Given the description of an element on the screen output the (x, y) to click on. 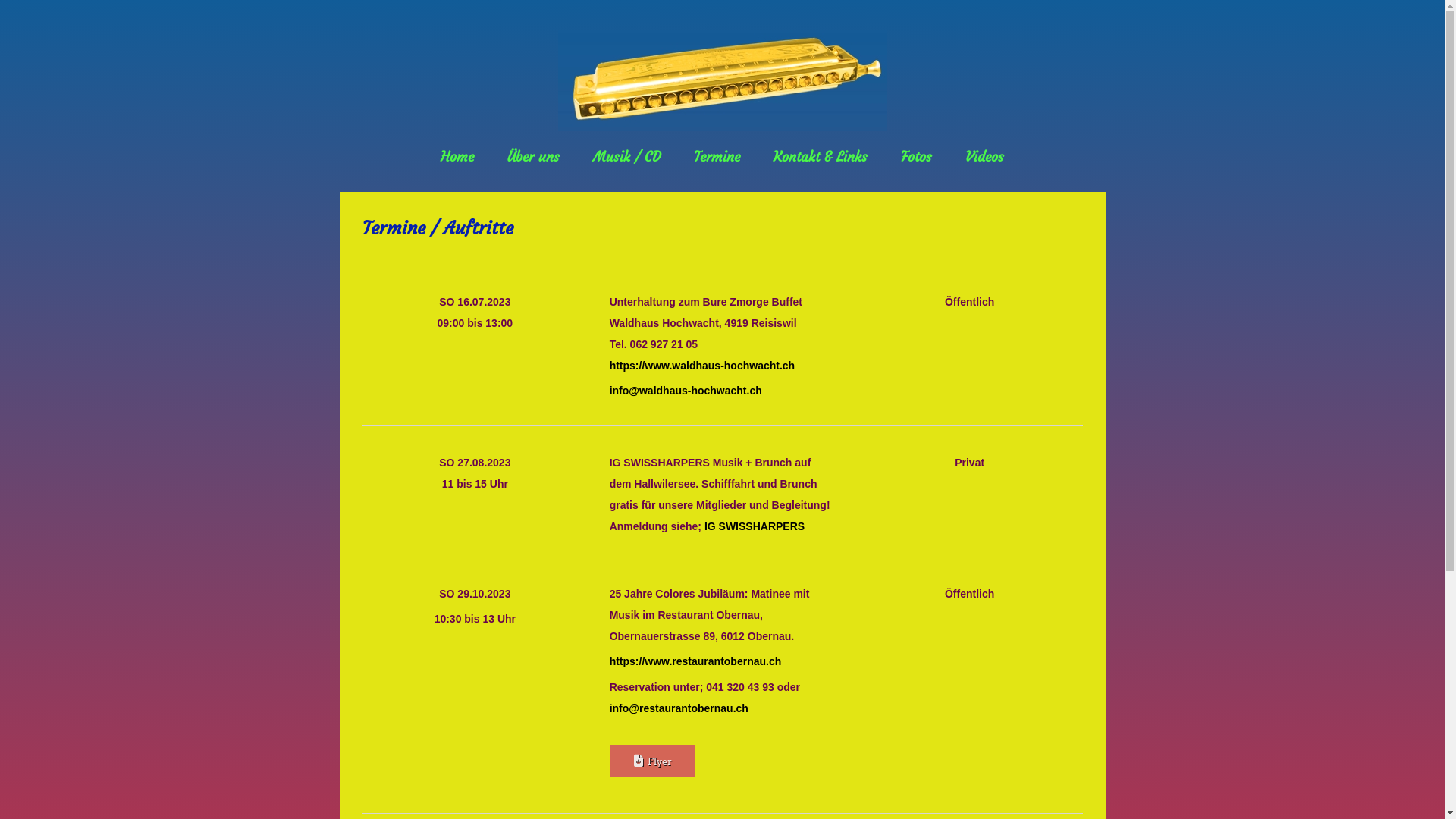
Termine Element type: text (716, 156)
Videos Element type: text (984, 156)
Fotos Element type: text (916, 156)
Flyer Element type: text (651, 760)
https://www.restaurantobernau.ch Element type: text (695, 661)
IG SWISSHARPERS Element type: text (754, 526)
info@waldhaus-hochwacht.ch Element type: text (685, 390)
Kontakt & Links Element type: text (820, 156)
Musik / CD Element type: text (626, 156)
https://www.waldhaus-hochwacht.ch Element type: text (702, 365)
Home Element type: text (457, 156)
info@restaurantobernau.ch Element type: text (678, 708)
